Given the description of an element on the screen output the (x, y) to click on. 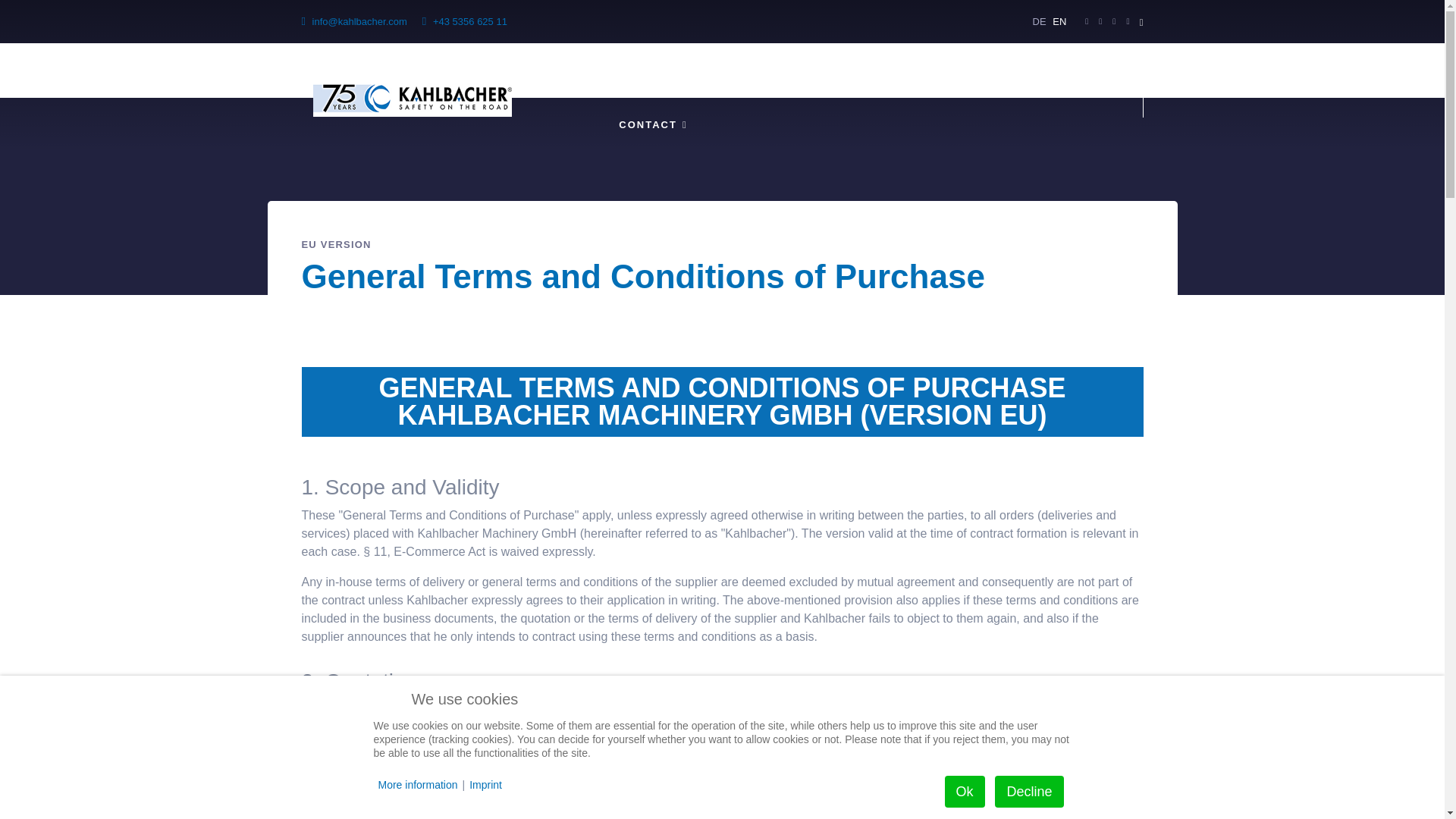
EN (1058, 21)
SERVICE (830, 70)
CONTACT (652, 124)
DE (1039, 21)
COMPANY (593, 70)
EXCHANGE (949, 70)
PRODUCTS (711, 70)
